Given the description of an element on the screen output the (x, y) to click on. 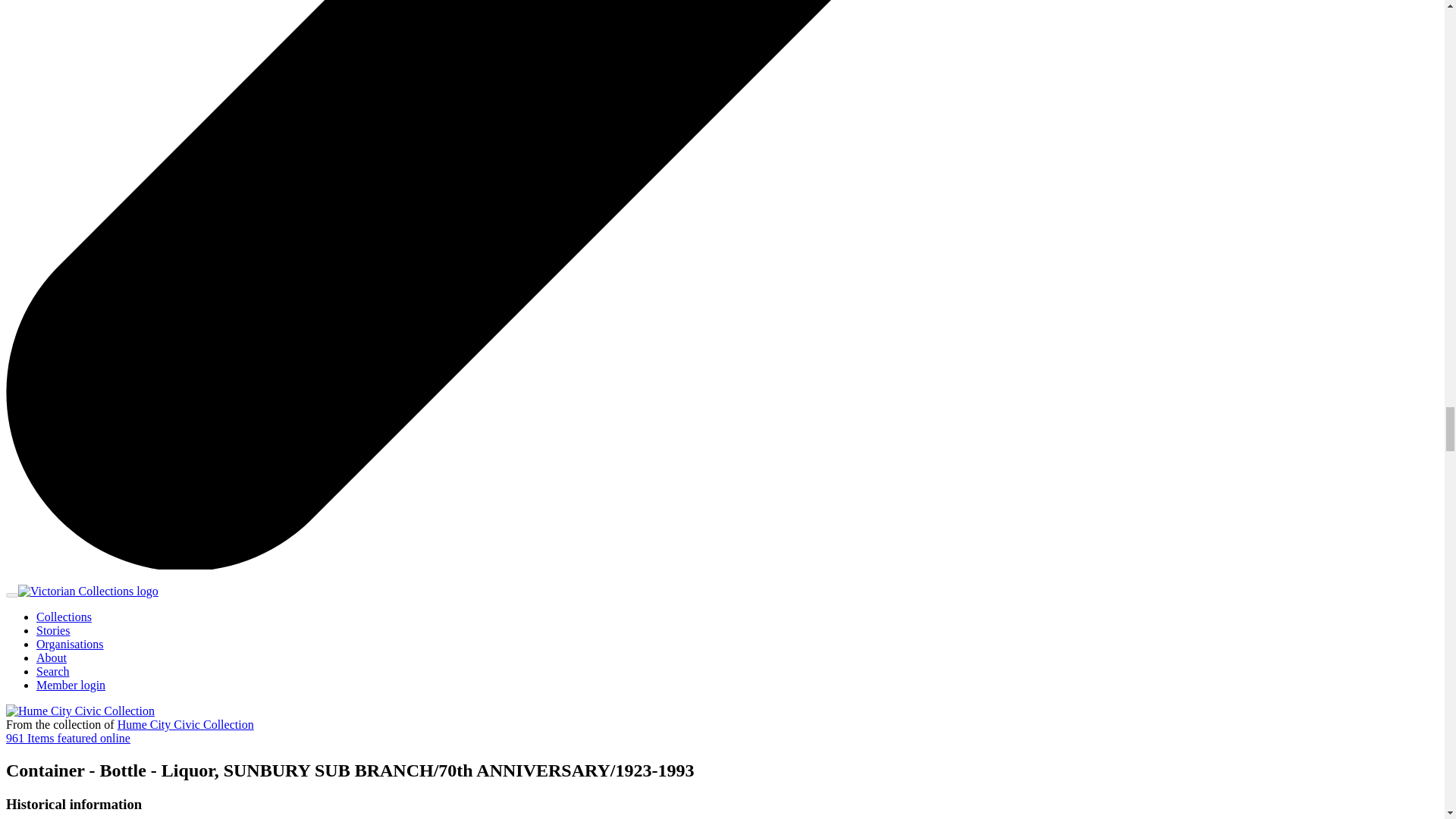
Search (52, 671)
Hume City Civic Collection (185, 724)
Member login (70, 684)
961 Items featured online (68, 738)
Stories (52, 630)
About (51, 657)
Organisations (69, 644)
Collections (63, 616)
